Given the description of an element on the screen output the (x, y) to click on. 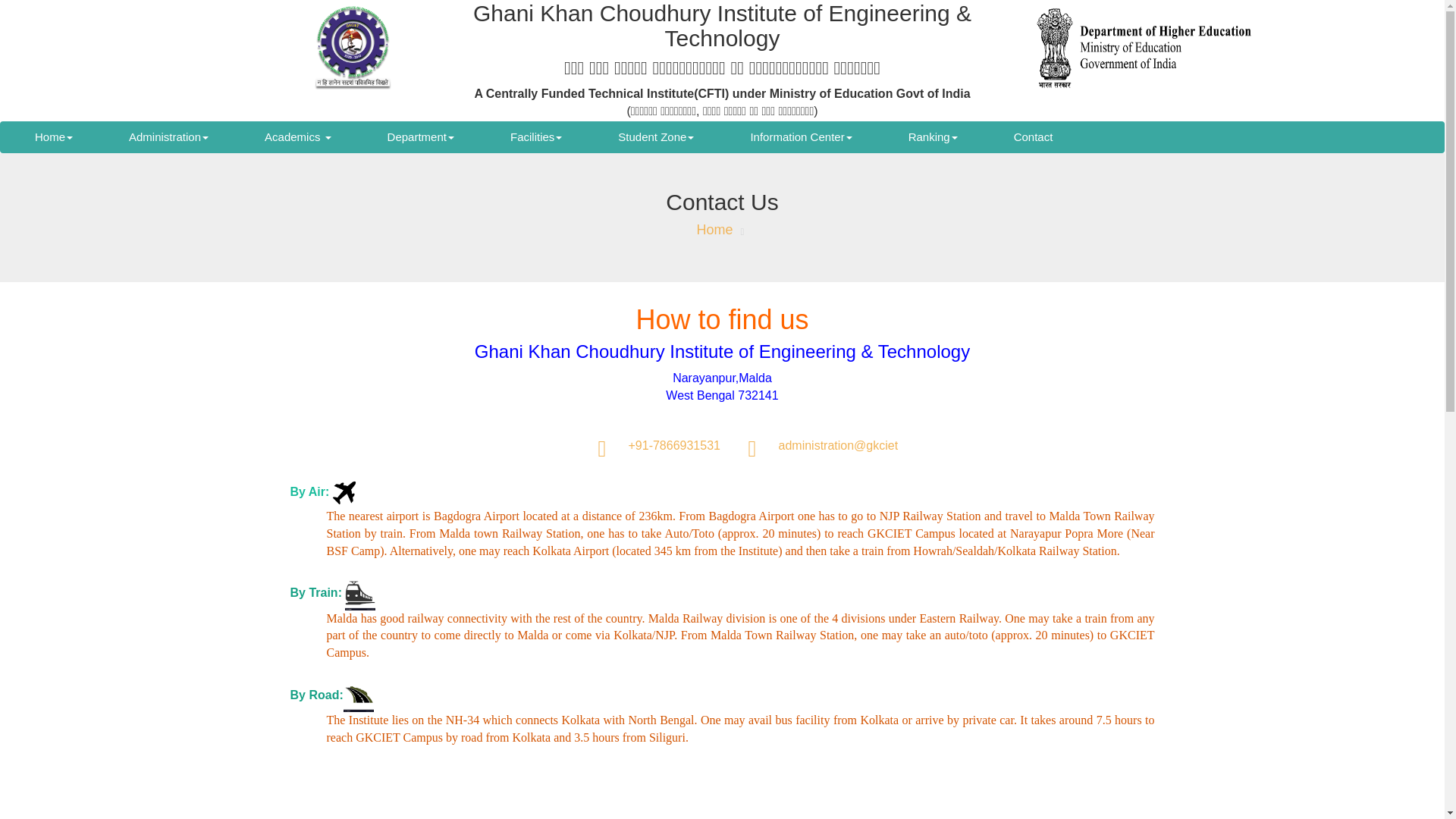
Home (53, 137)
Academics (297, 137)
Administration (168, 137)
Department (420, 137)
